Given the description of an element on the screen output the (x, y) to click on. 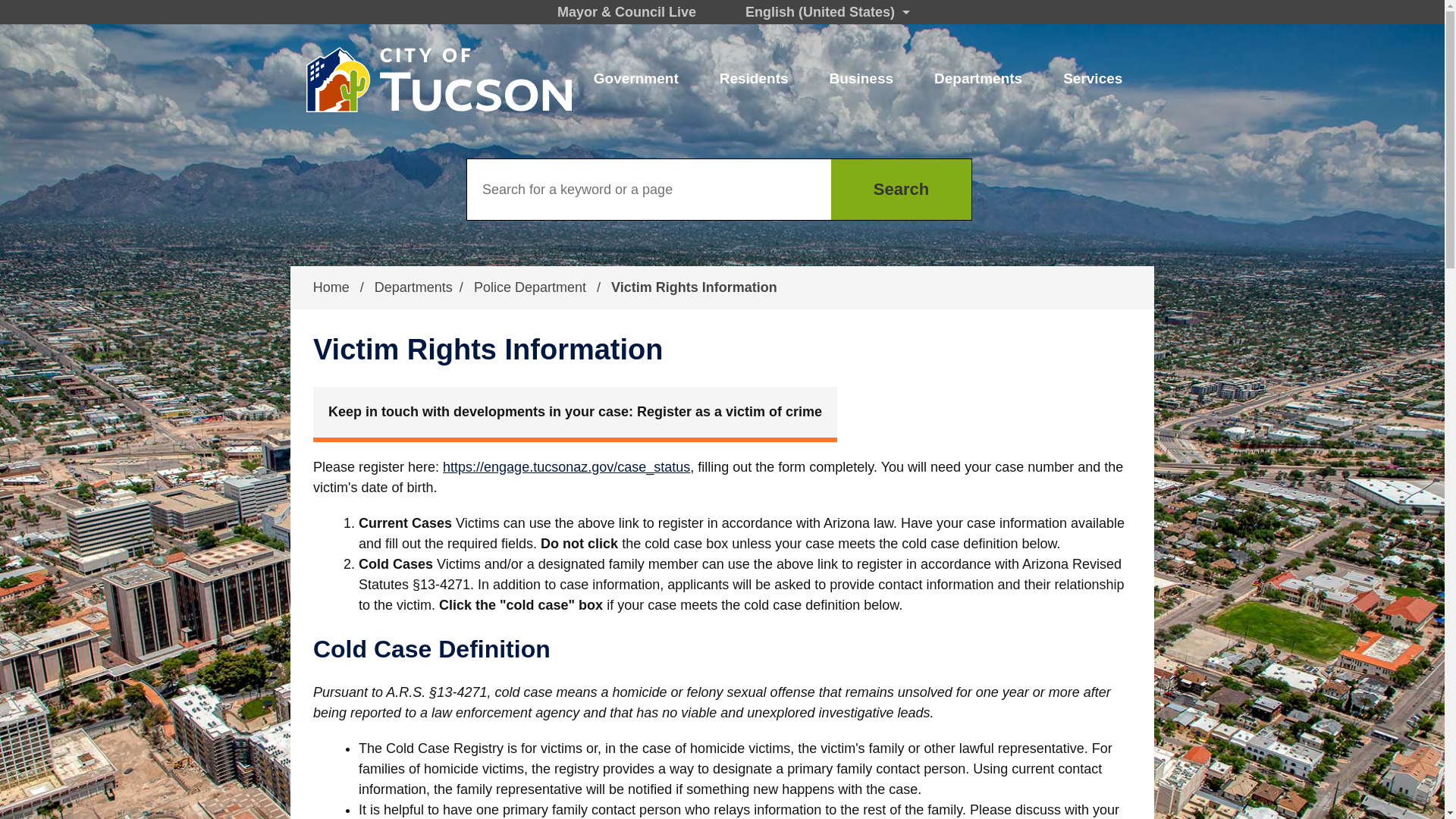
Search (901, 189)
Government (635, 78)
Search (901, 189)
City of Tucson - Home - Logo (437, 79)
